Given the description of an element on the screen output the (x, y) to click on. 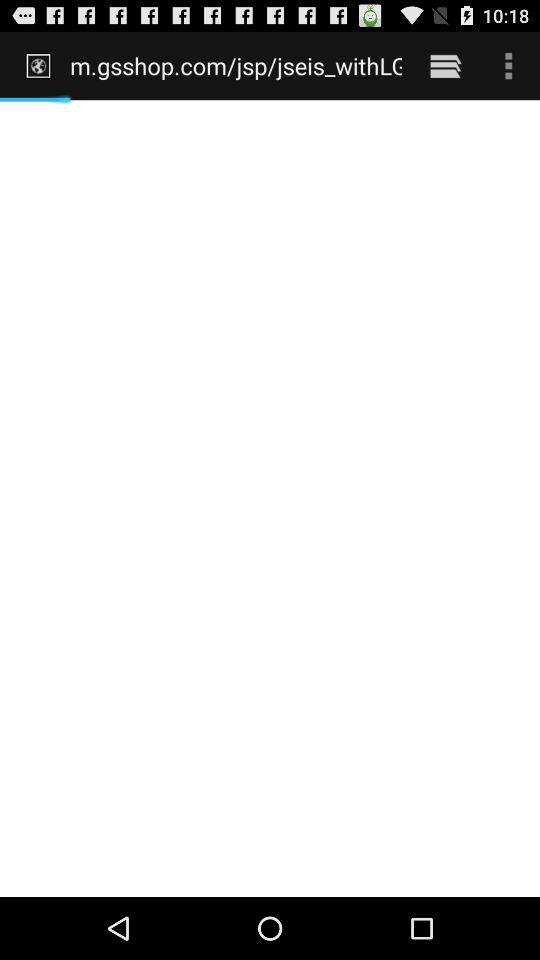
turn off item to the right of m gsshop com icon (444, 65)
